Given the description of an element on the screen output the (x, y) to click on. 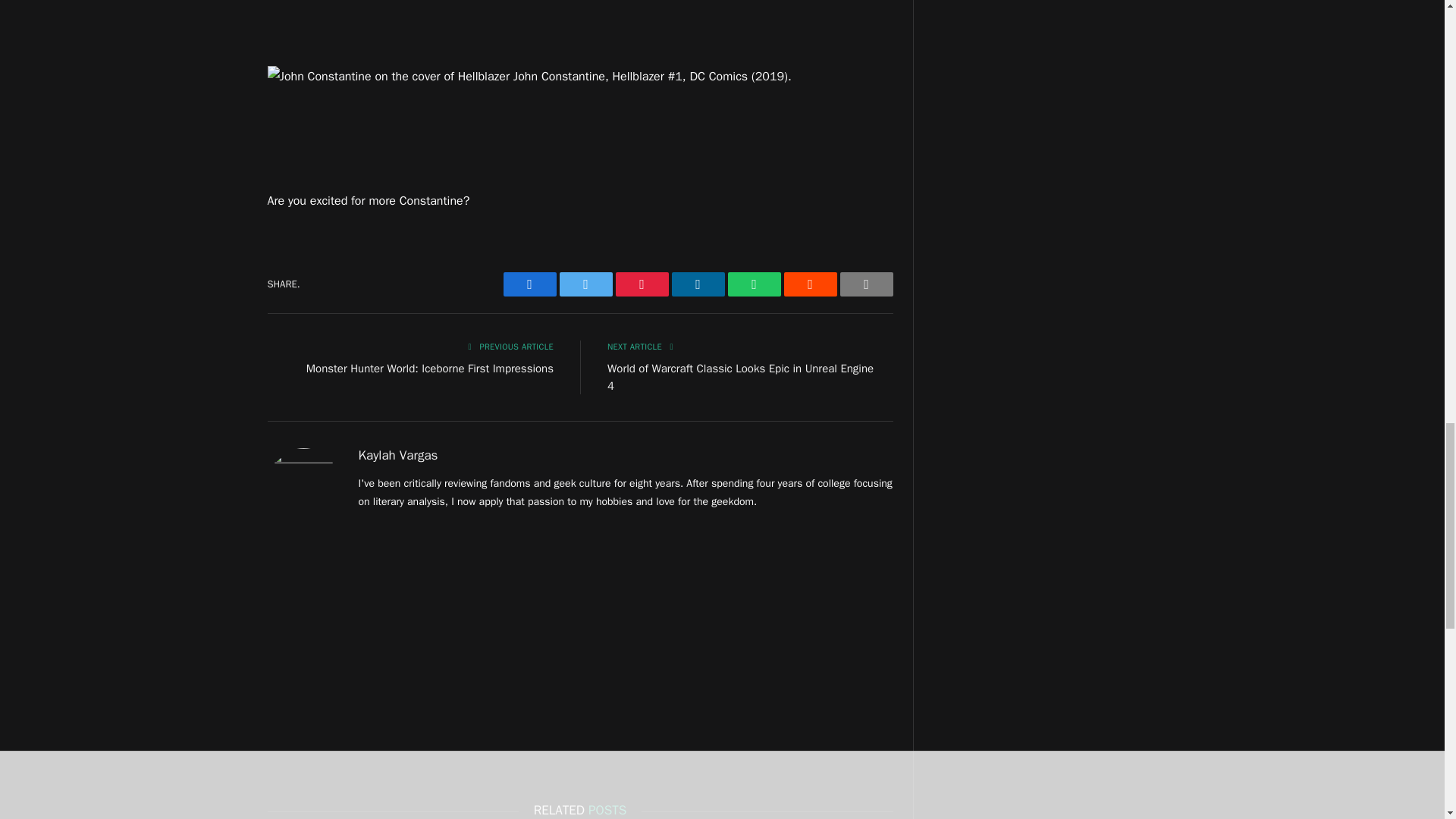
Share on Facebook (529, 283)
Reddit (810, 283)
Share on WhatsApp (754, 283)
LinkedIn (698, 283)
Share on LinkedIn (698, 283)
Share on Pinterest (641, 283)
WhatsApp (754, 283)
Twitter (585, 283)
Facebook (529, 283)
Pinterest (641, 283)
